Given the description of an element on the screen output the (x, y) to click on. 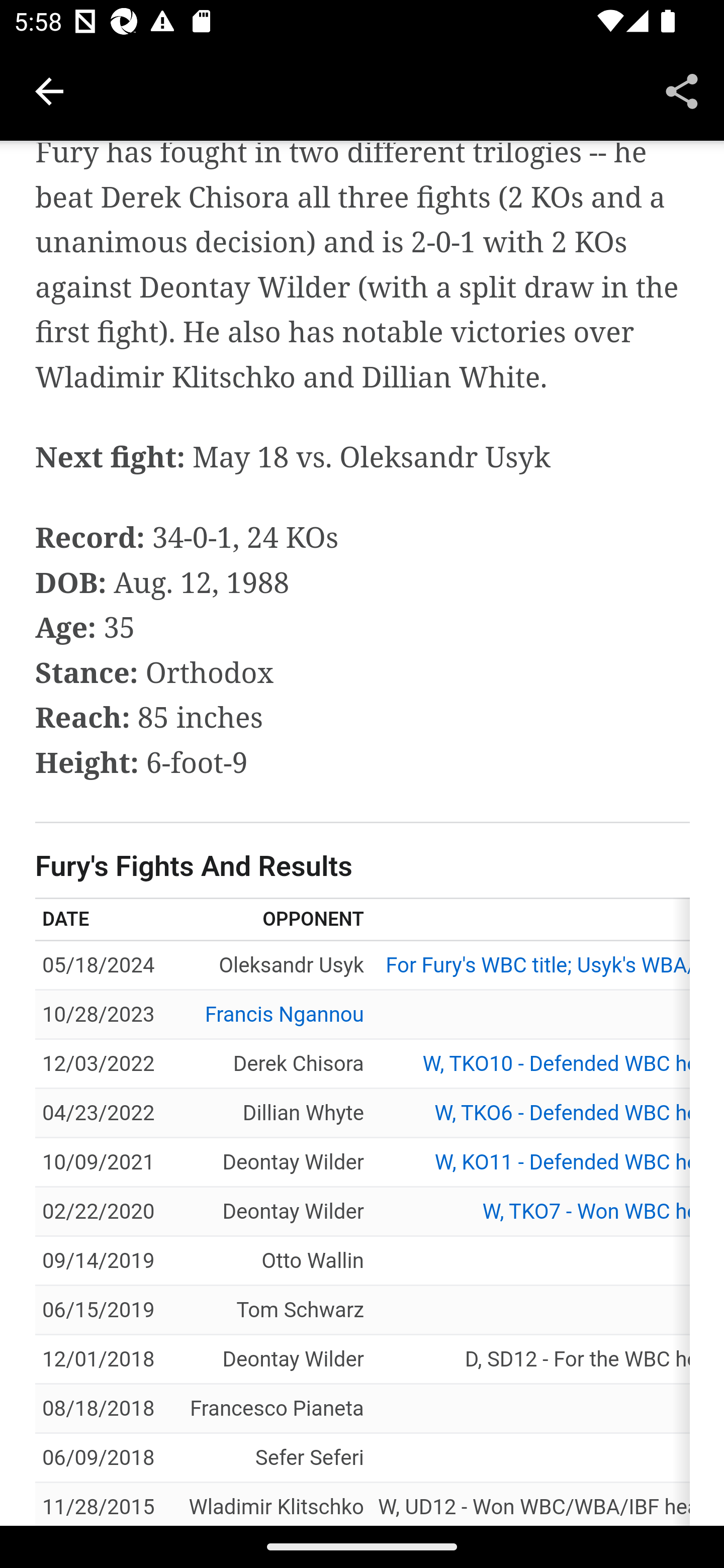
Navigate up (49, 91)
Share (681, 90)
